Given the description of an element on the screen output the (x, y) to click on. 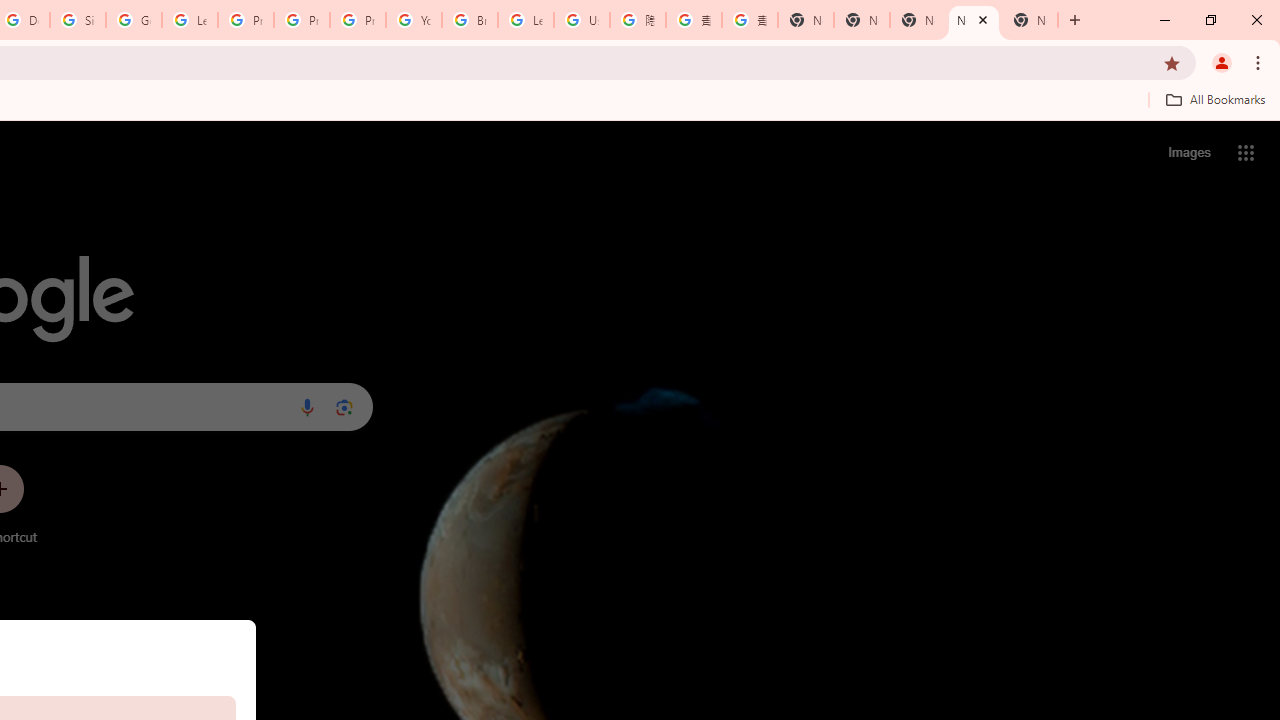
All Bookmarks (1215, 99)
New Tab (806, 20)
Sign in - Google Accounts (77, 20)
YouTube (413, 20)
New Tab (1030, 20)
Browse Chrome as a guest - Computer - Google Chrome Help (469, 20)
